Given the description of an element on the screen output the (x, y) to click on. 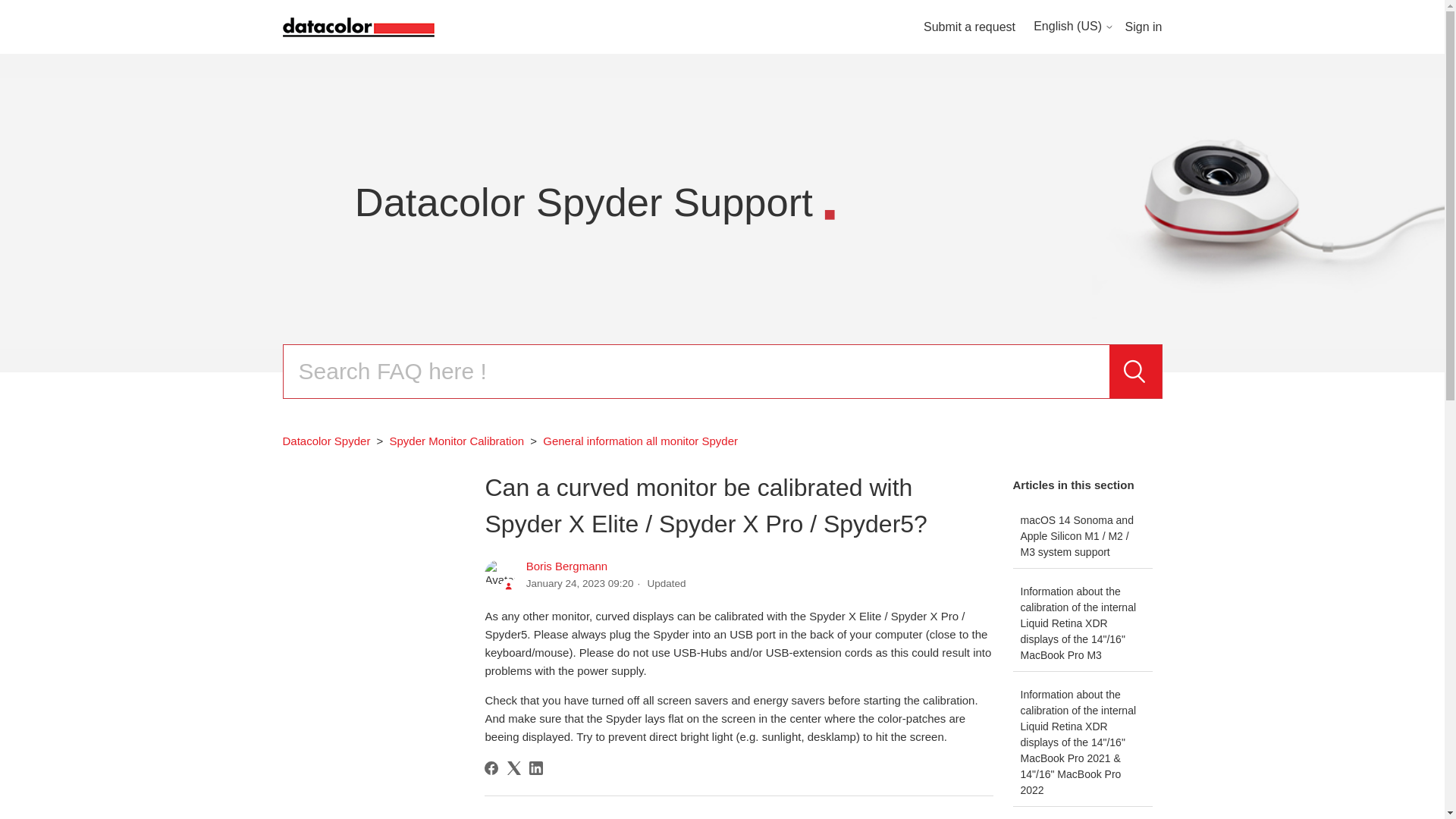
Spyder Monitor Calibration (450, 440)
Sign in (1143, 27)
Search (1134, 371)
2023-01-24T09:20:10Z (579, 583)
General information all monitor Spyder (640, 440)
Home (357, 24)
Spyder Monitor Calibration (457, 440)
Boris Bergmann (566, 565)
Datacolor Spyder (325, 440)
